Given the description of an element on the screen output the (x, y) to click on. 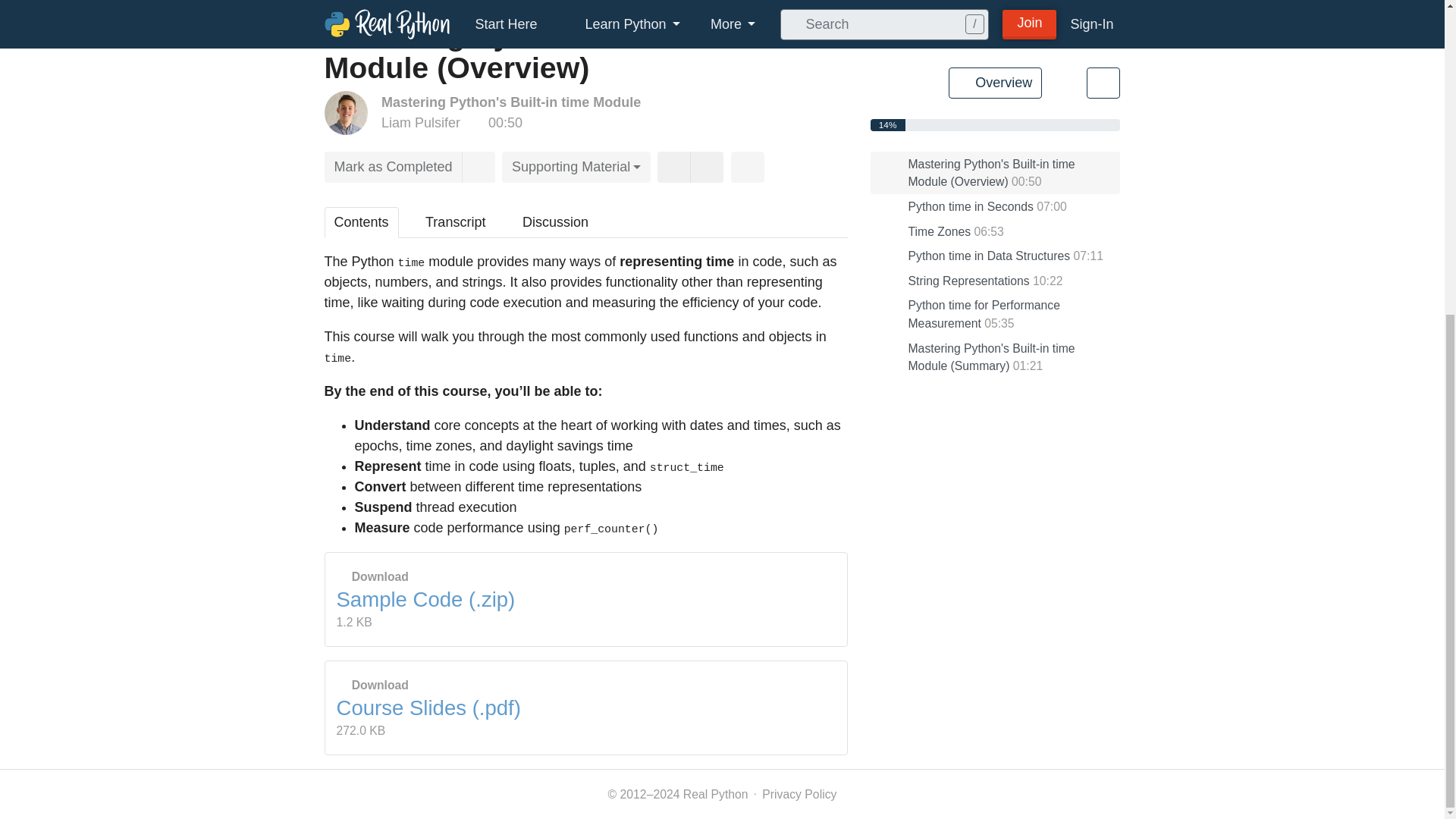
Mastering Python's Built-in time Module (510, 102)
Mark as Completed (393, 166)
Mark lesson as completed (393, 166)
Liked it (674, 166)
Share (747, 166)
Liam Pulsifer (420, 122)
Course progress (887, 124)
Supporting Material (576, 166)
Add bookmark (478, 166)
